Given the description of an element on the screen output the (x, y) to click on. 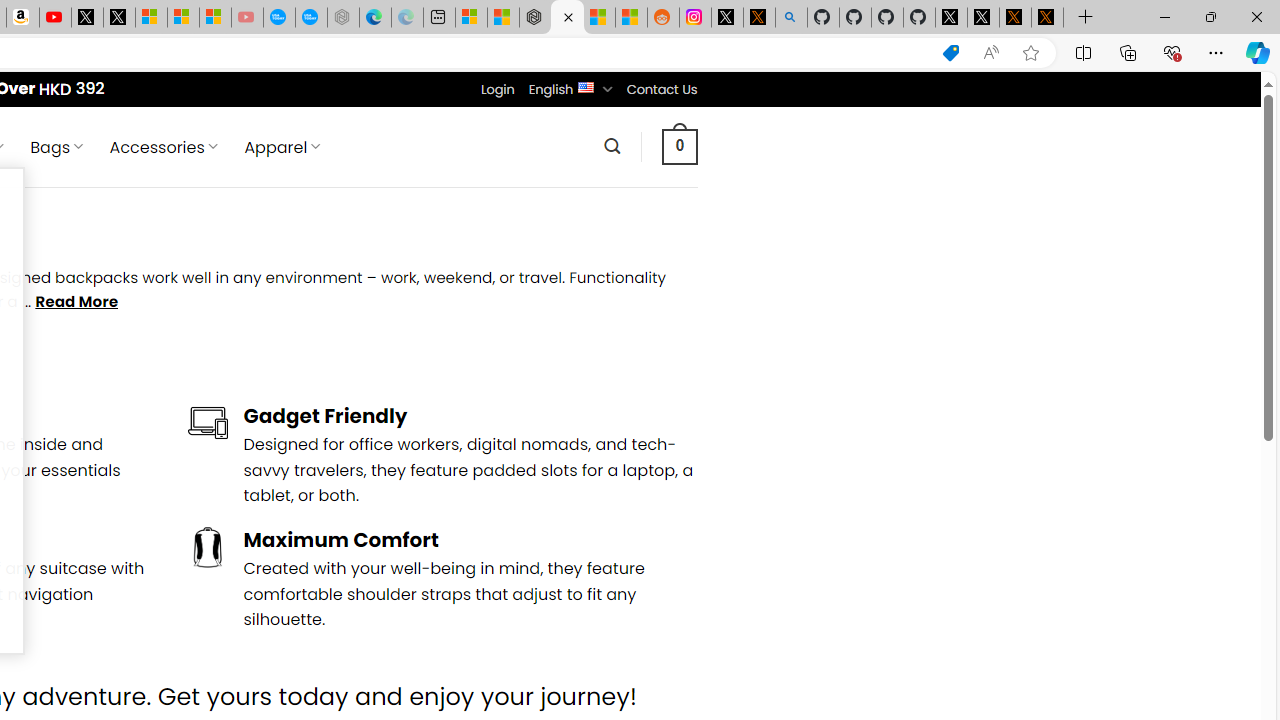
Collections (1128, 52)
New tab (438, 17)
Login (497, 89)
Browser essentials (1171, 52)
Close tab (568, 16)
  0   (679, 146)
Restore (1210, 16)
Contact Us (661, 89)
Search (612, 146)
English (586, 86)
Login (497, 89)
This site has coupons! Shopping in Microsoft Edge (950, 53)
